Given the description of an element on the screen output the (x, y) to click on. 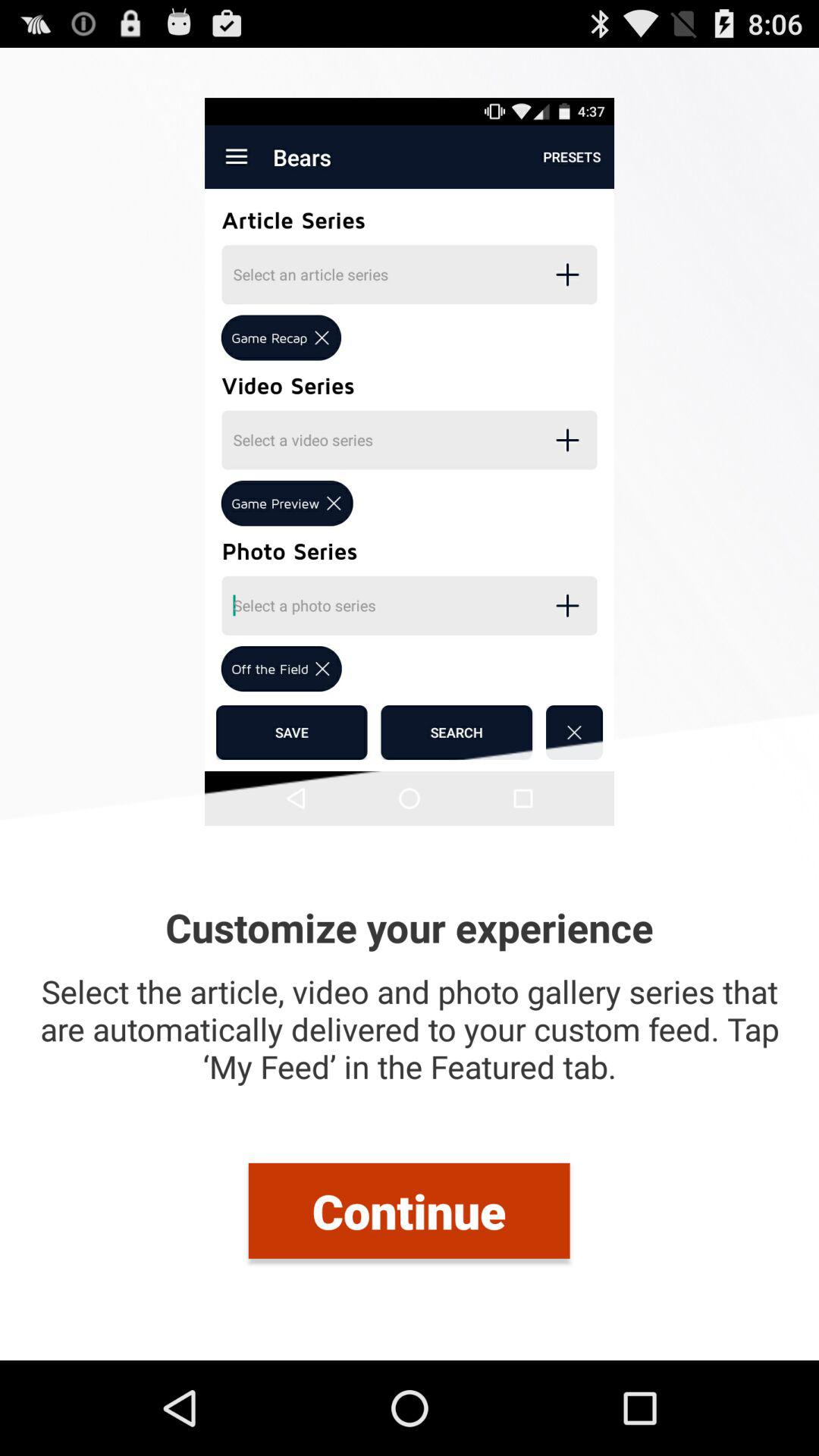
flip until continue (408, 1210)
